Given the description of an element on the screen output the (x, y) to click on. 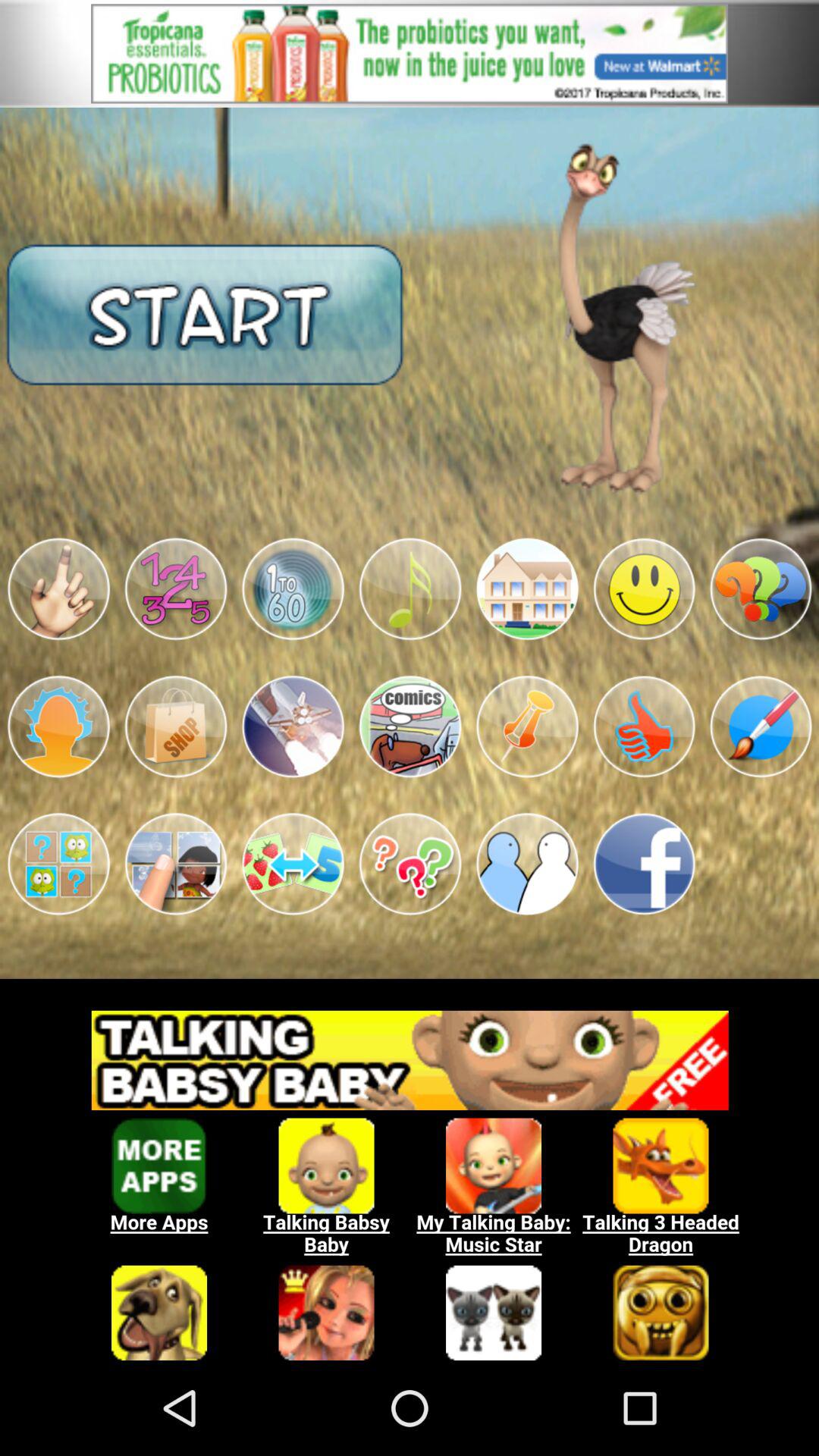
to use facebook link (643, 863)
